Given the description of an element on the screen output the (x, y) to click on. 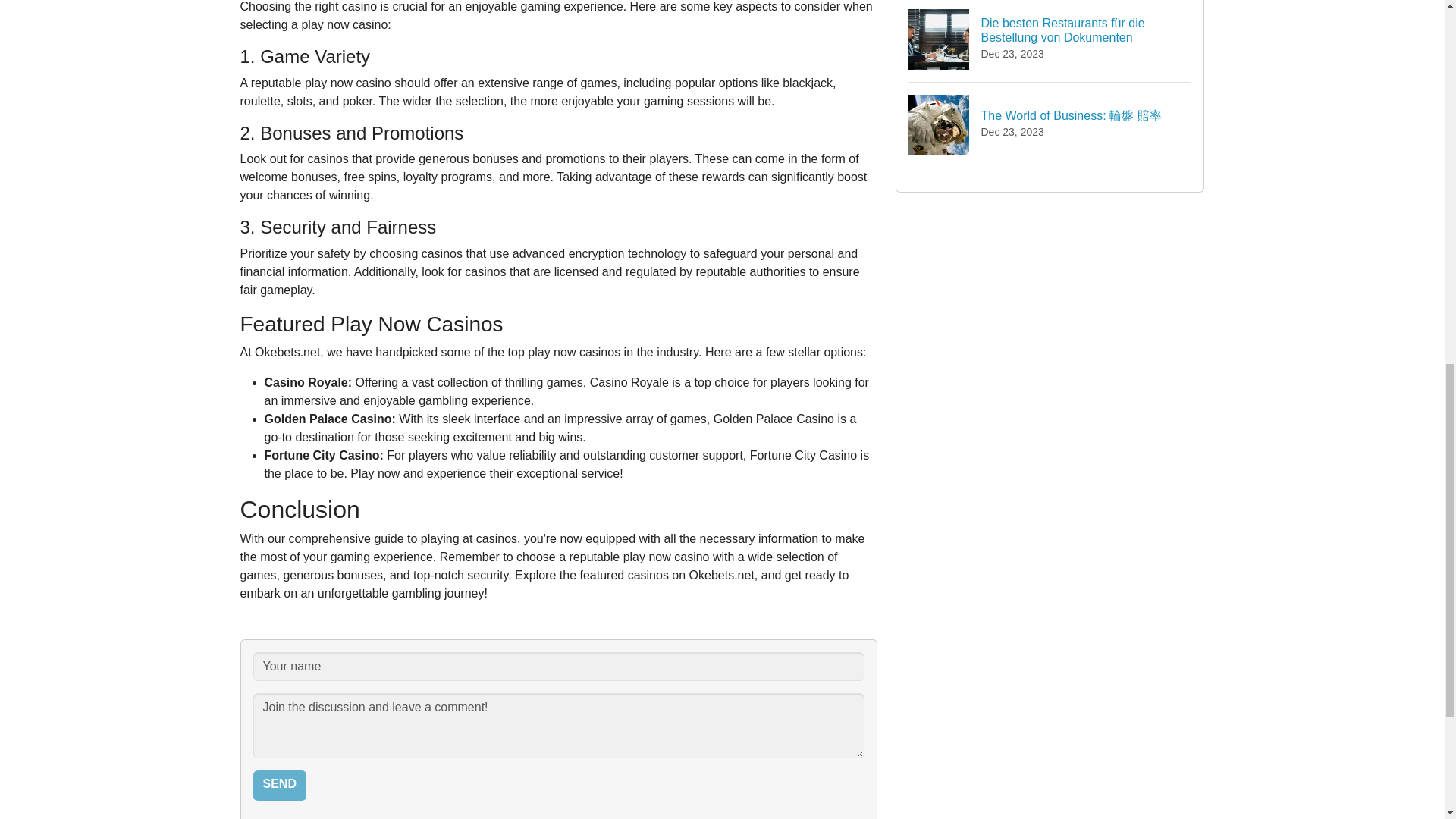
Send (279, 785)
Send (279, 785)
